Given the description of an element on the screen output the (x, y) to click on. 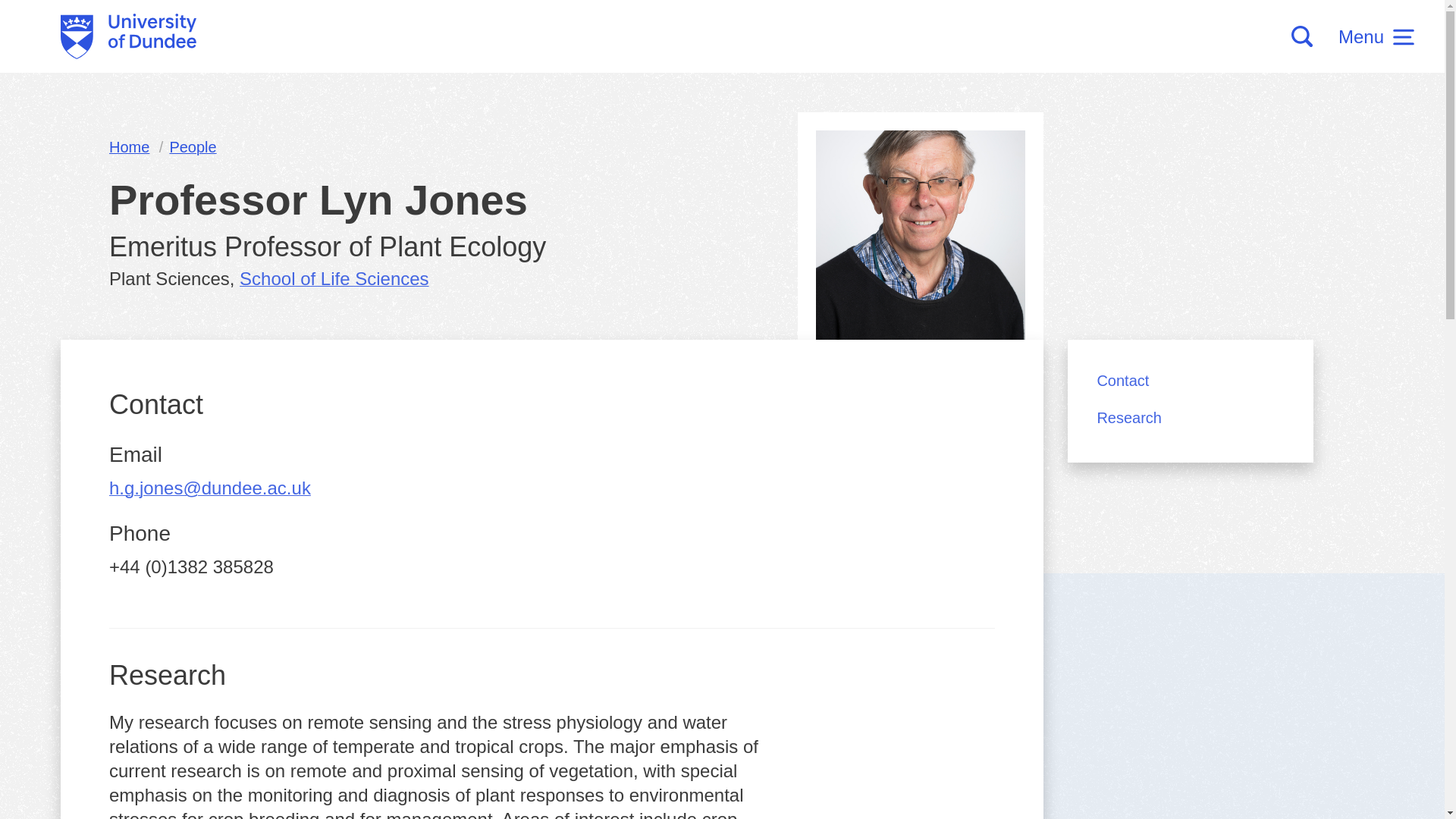
University of Dundee (128, 35)
Menu (1375, 36)
